Given the description of an element on the screen output the (x, y) to click on. 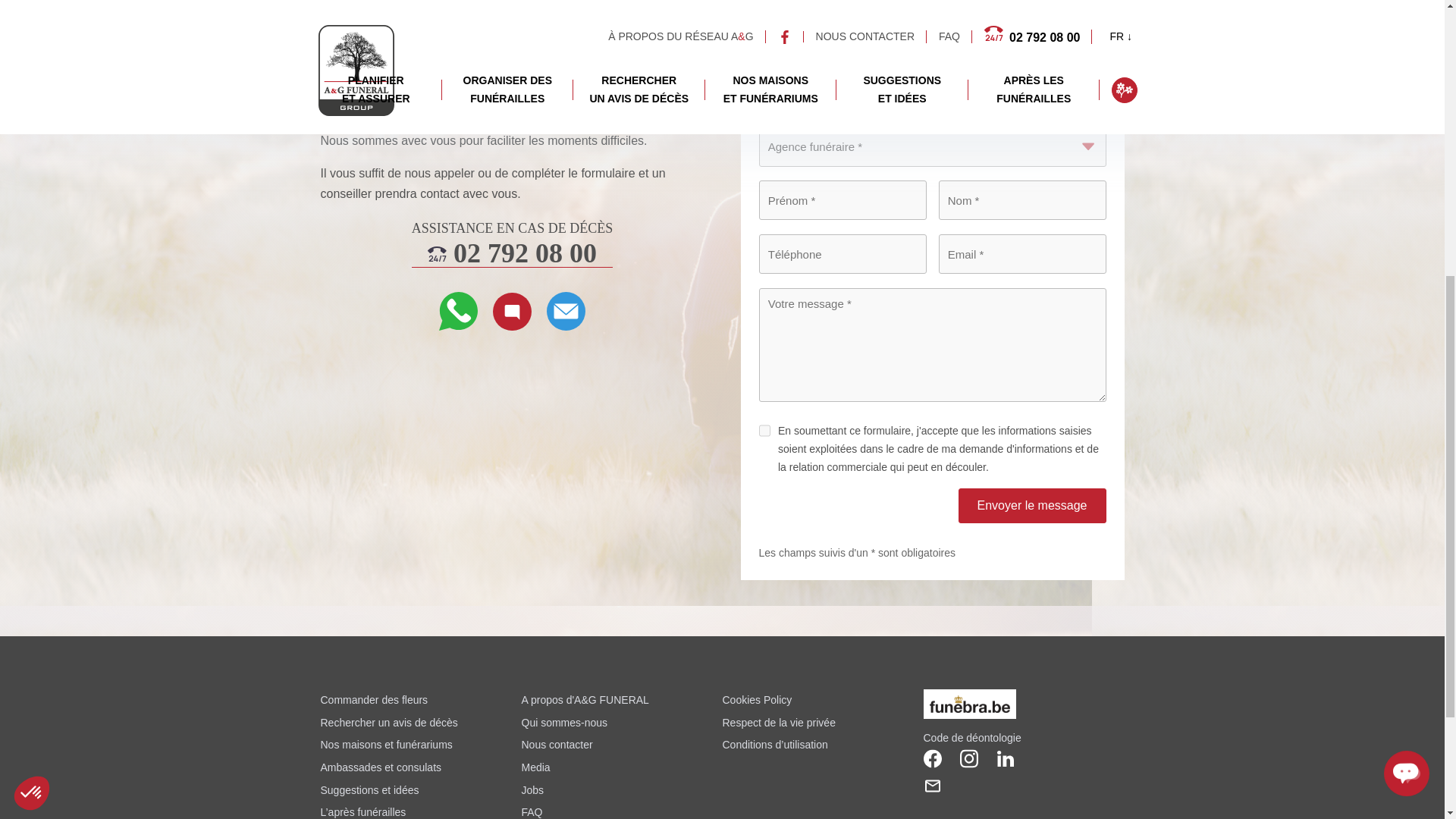
02 792 08 00 (512, 252)
0 (109, 273)
